Given the description of an element on the screen output the (x, y) to click on. 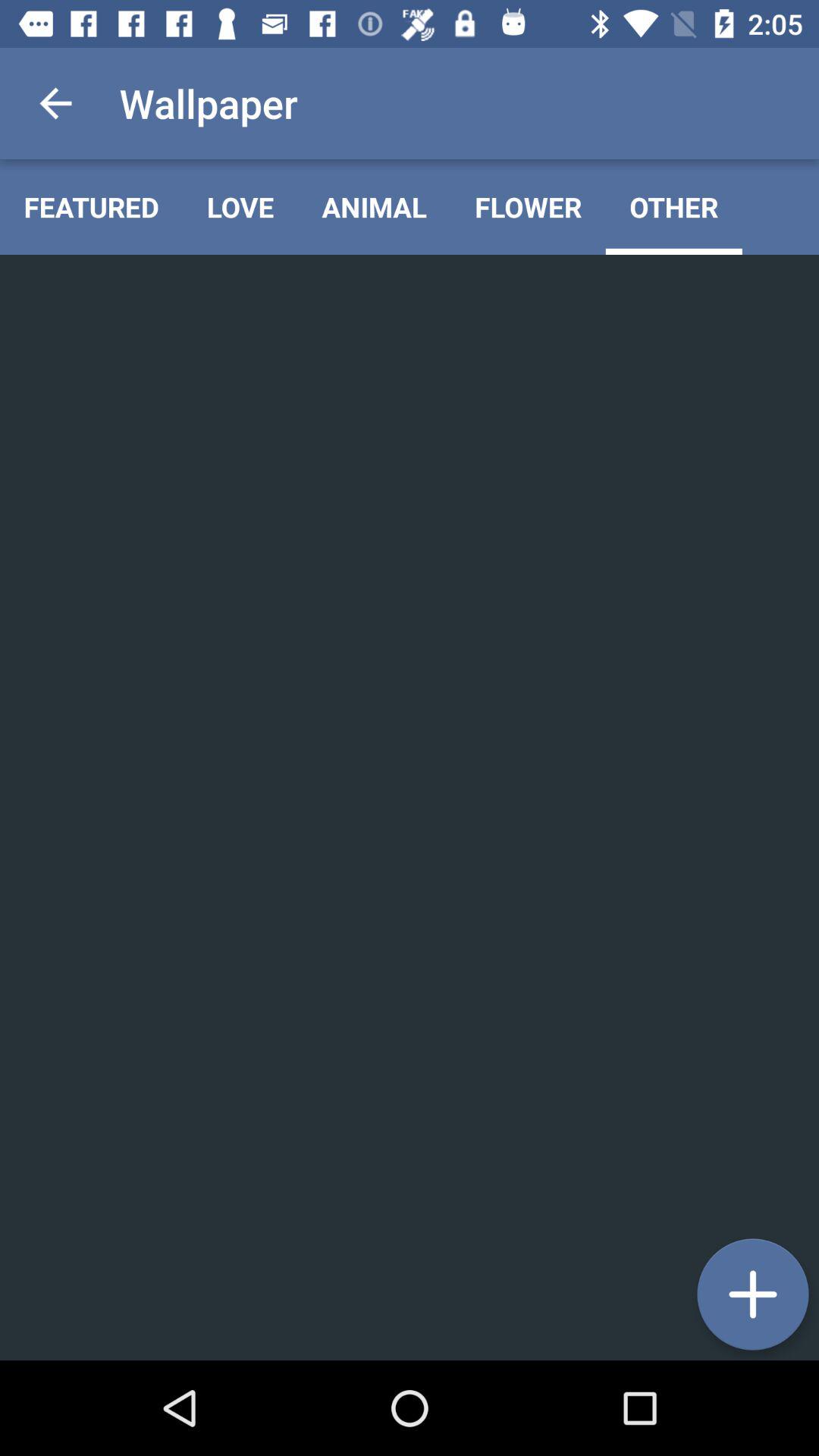
select the animal item (374, 206)
